Given the description of an element on the screen output the (x, y) to click on. 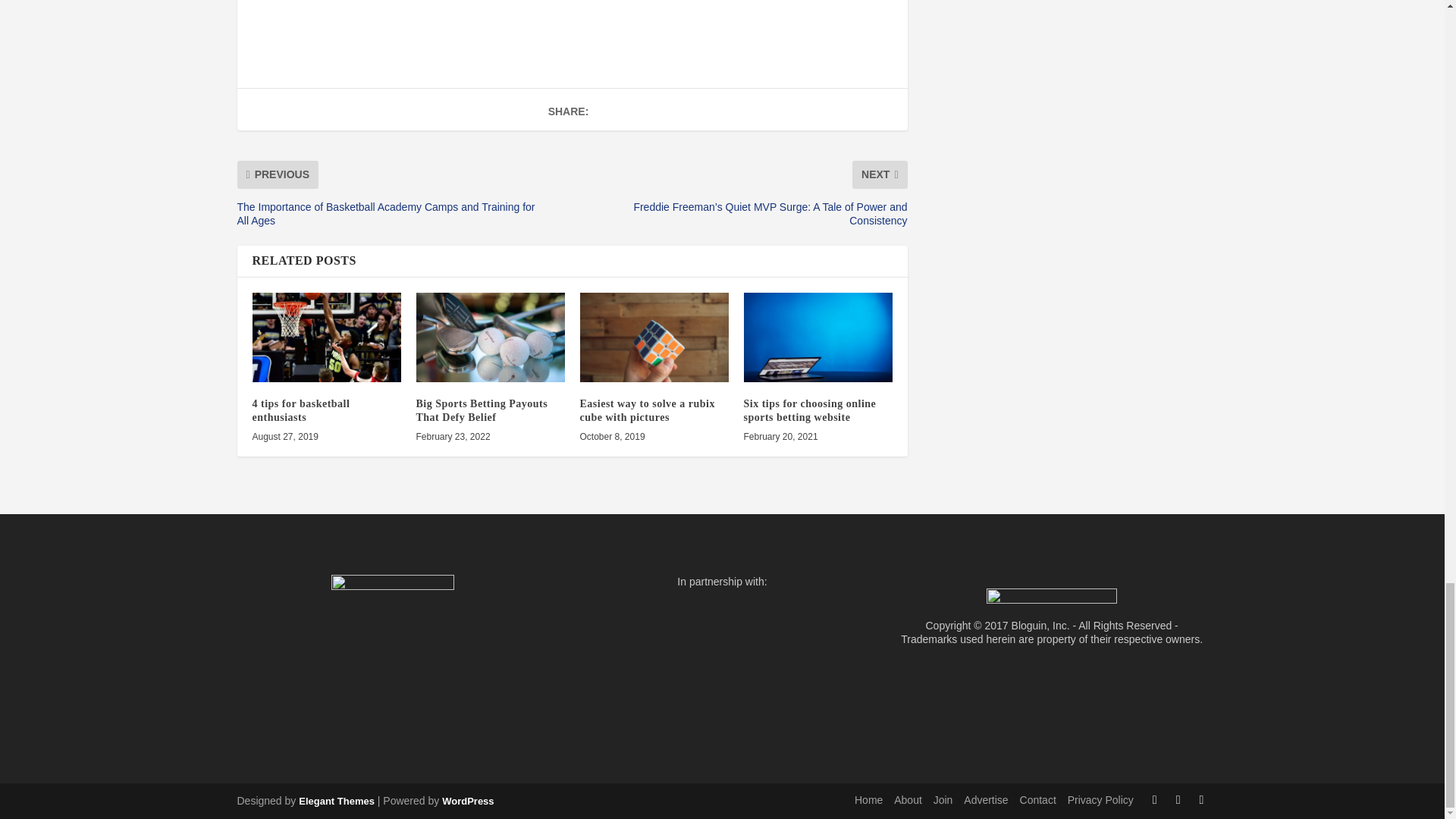
Easiest way to solve a rubix cube with pictures (653, 337)
Big Sports Betting Payouts That Defy Belief (489, 337)
4 tips for basketball enthusiasts (325, 337)
Six tips for choosing online sports betting website (816, 337)
